Given the description of an element on the screen output the (x, y) to click on. 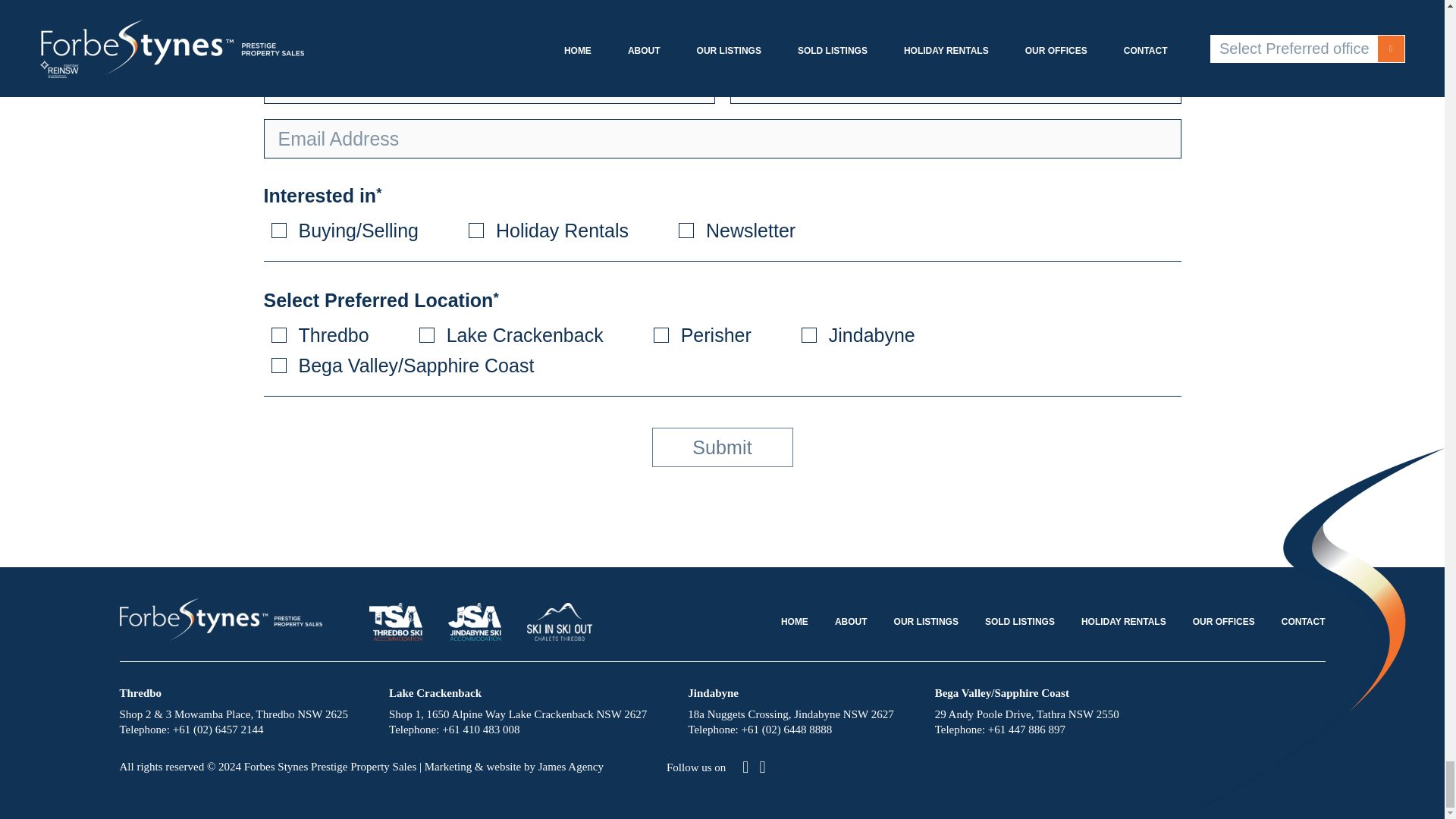
18a Nuggets Crossing, Jindabyne NSW 2627 (790, 714)
Submit (722, 446)
Perisher (660, 335)
Shop 1, 1650 Alpine Way Lake Crackenback NSW 2627 (517, 714)
Thredbo (278, 335)
ABOUT (850, 621)
CONTACT (1302, 621)
Newsletter (686, 230)
SOLD LISTINGS (1019, 621)
Holiday Rentals (475, 230)
